Given the description of an element on the screen output the (x, y) to click on. 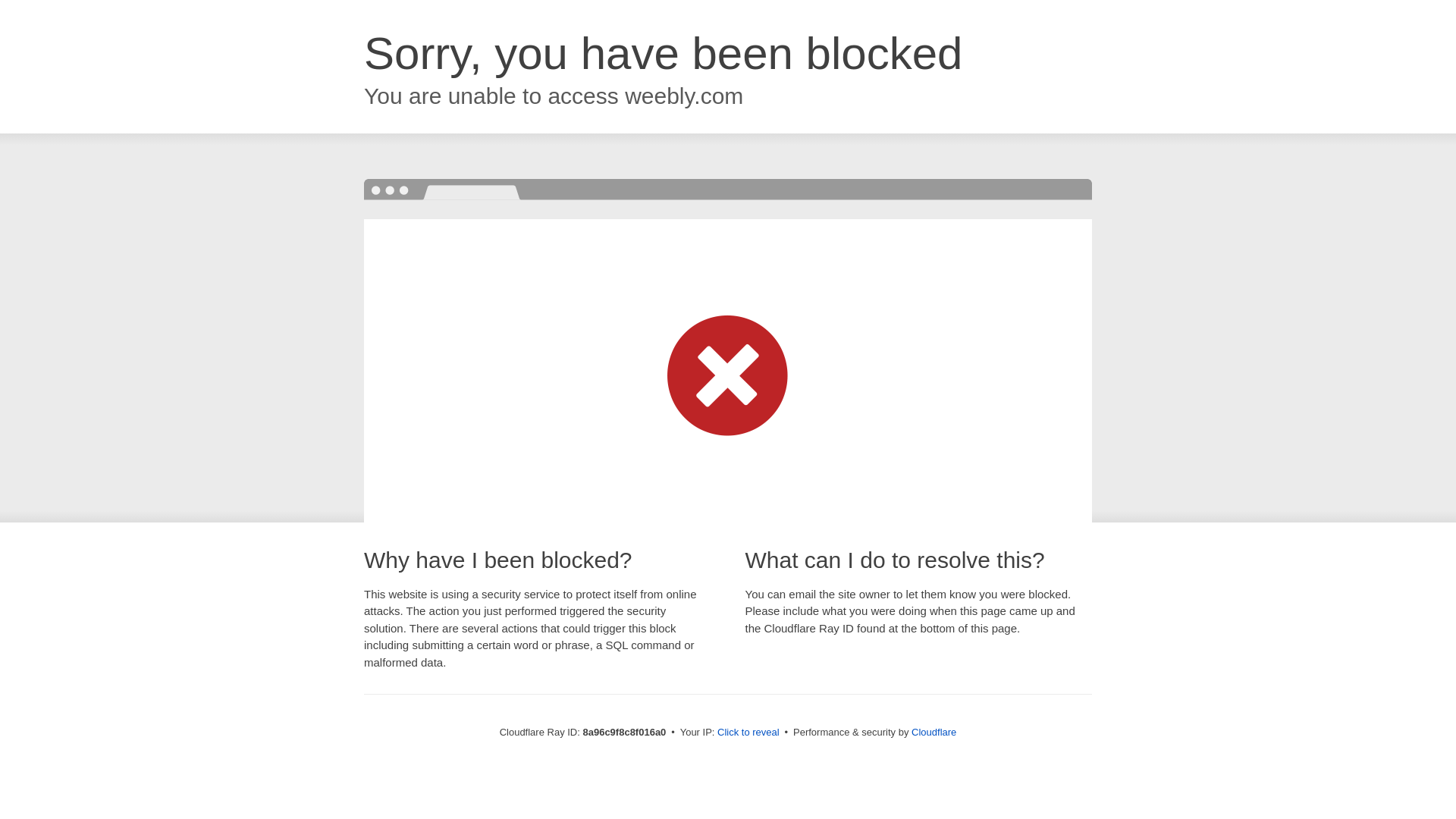
Cloudflare (933, 731)
Click to reveal (747, 732)
